Given the description of an element on the screen output the (x, y) to click on. 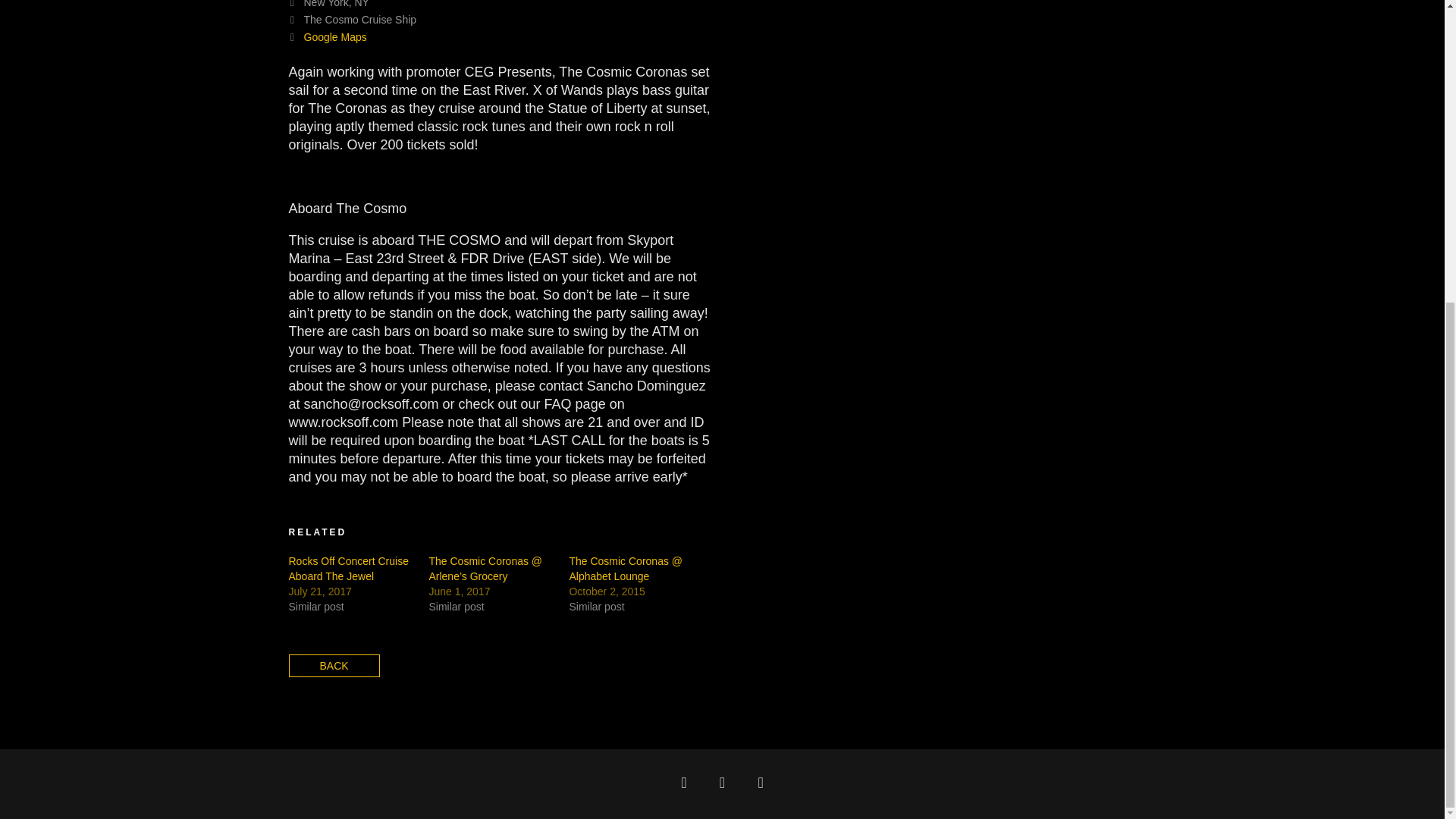
Google Maps (334, 37)
BACK (333, 665)
Rocks Off Concert Cruise Aboard The Jewel (347, 568)
Rocks Off Concert Cruise Aboard The Jewel (347, 568)
